Given the description of an element on the screen output the (x, y) to click on. 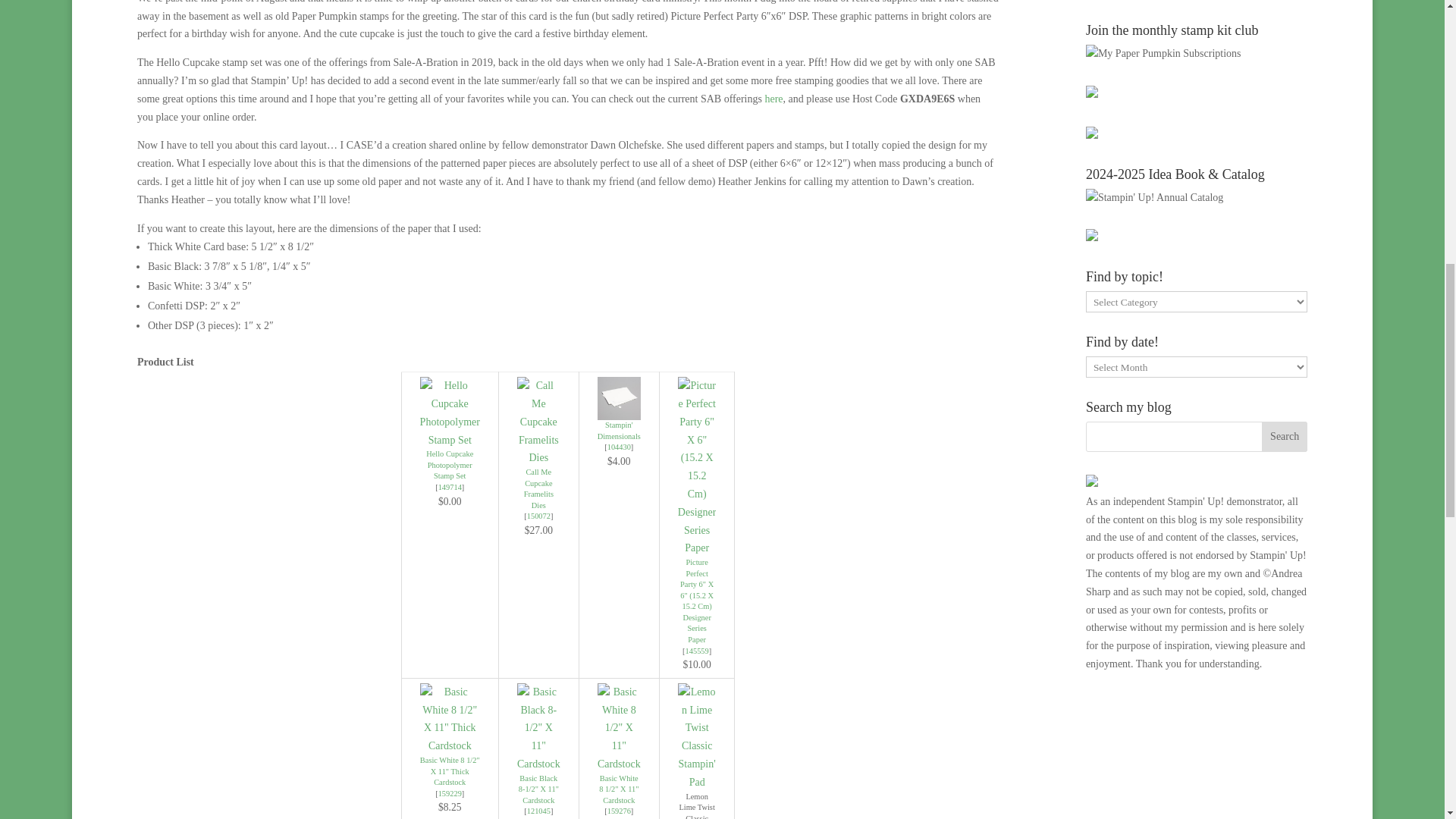
Hello Cupcake Photopolymer Stamp Set (449, 464)
here (773, 98)
Hello Cupcake Photopolymer Stamp Set (449, 464)
121045 (538, 810)
Call Me Cupcake Framelits Dies (538, 457)
Stampin' Dimensionals (618, 410)
Hello Cupcake Photopolymer Stamp Set (449, 487)
149714 (449, 487)
Hello Cupcake Photopolymer Stamp Set (450, 439)
Stampin' Dimensionals (618, 398)
